Given the description of an element on the screen output the (x, y) to click on. 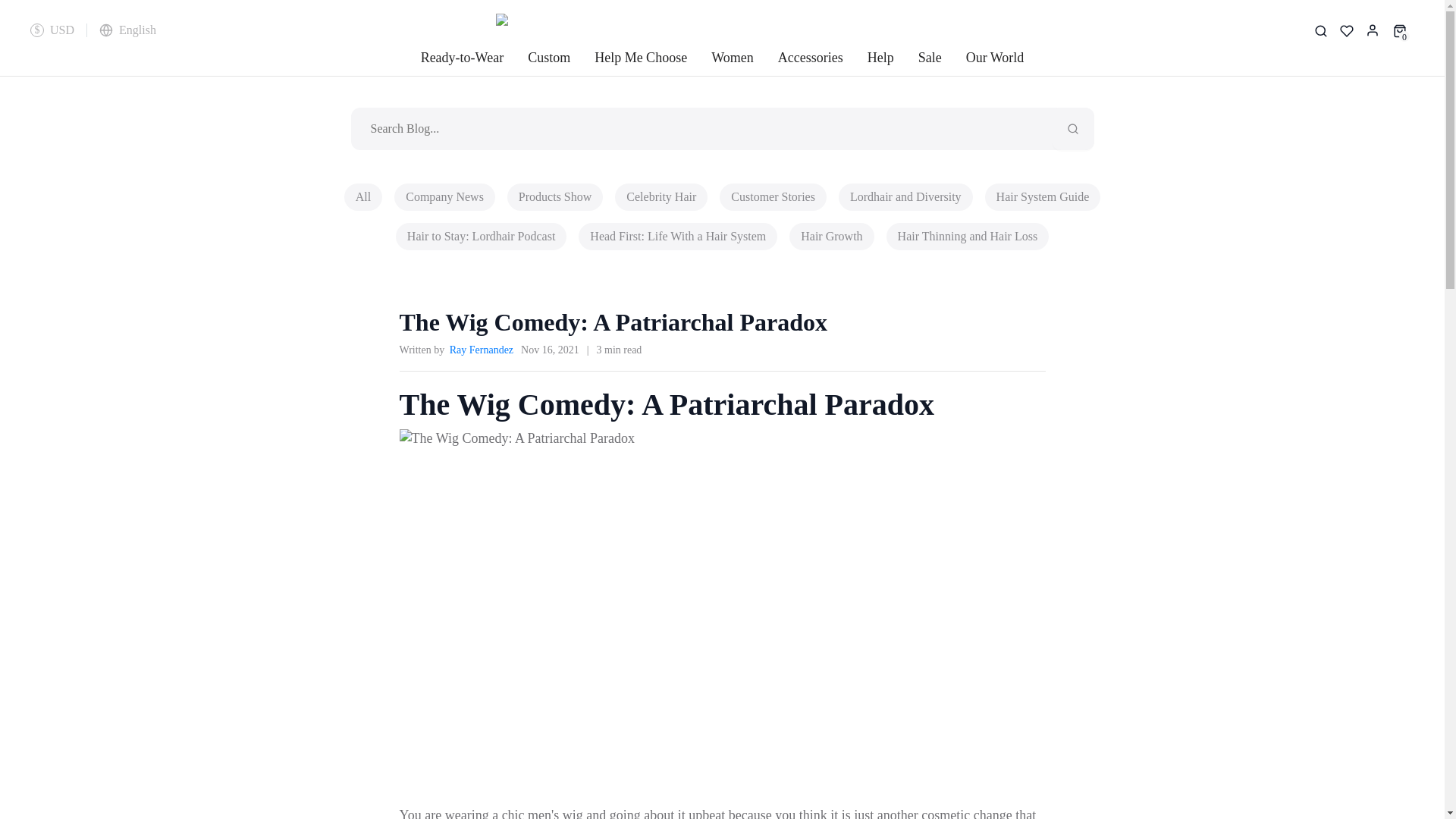
Non Surgical Hair Replacement Systems (732, 28)
Search (1072, 128)
English (127, 29)
Ready-to-Wear (461, 61)
